Given the description of an element on the screen output the (x, y) to click on. 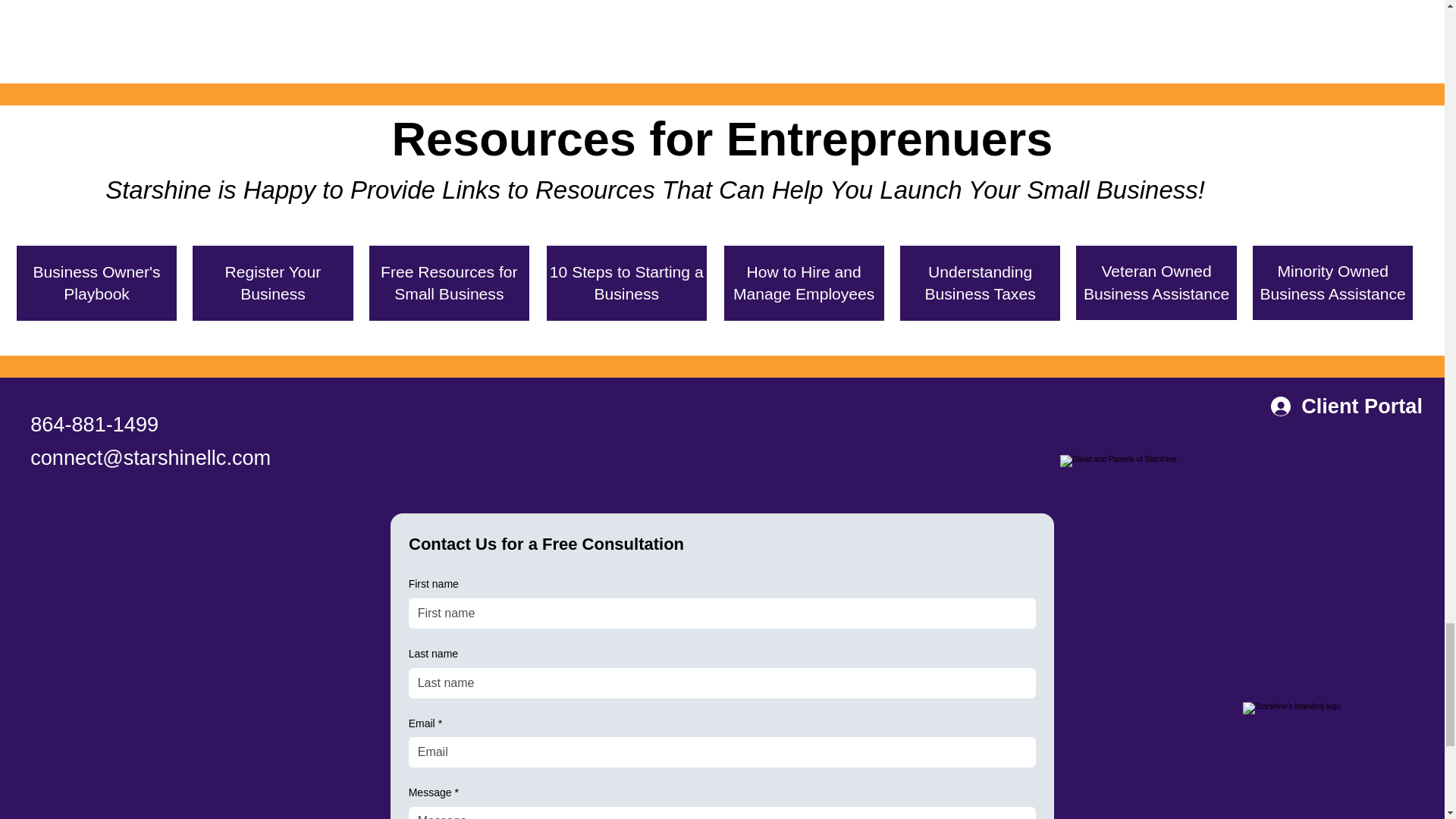
Veteran Owned Business Assistance (1155, 282)
Understanding Business Taxes (979, 282)
How to Hire and Manage Employees (803, 282)
Client Portal (1346, 406)
Business Owner's Playbook (96, 282)
10 Steps to Starting a Business (626, 282)
Minority Owned Business Assistance (1332, 282)
Register Your Business (272, 282)
Free Resources for Small Business (449, 282)
